Given the description of an element on the screen output the (x, y) to click on. 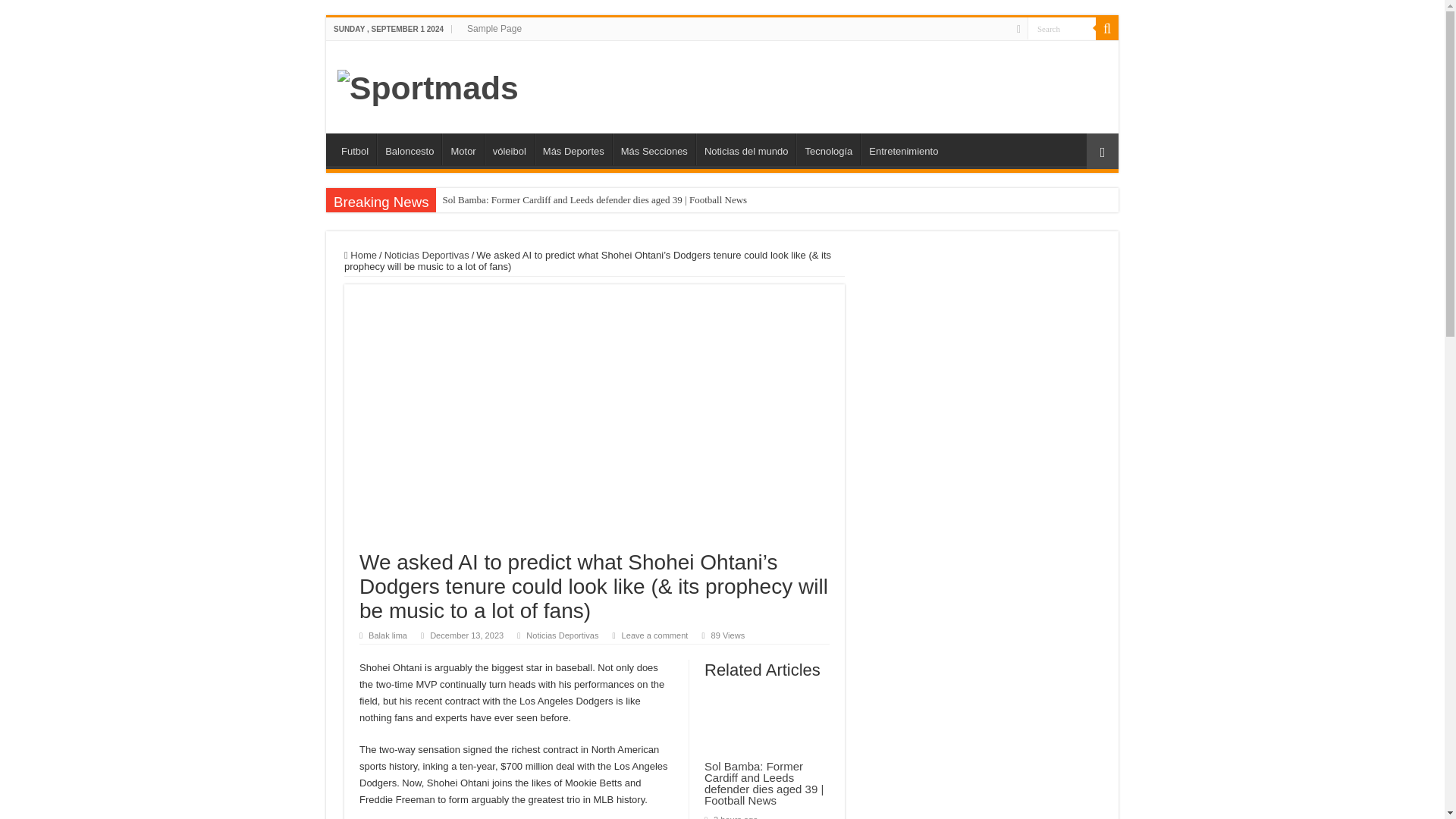
Entretenimiento (902, 149)
Noticias Deportivas (561, 634)
Motor (462, 149)
Sample Page (494, 28)
Baloncesto (409, 149)
Noticias Deportivas (426, 255)
Balak lima (387, 634)
Sportmads (427, 85)
Noticias del mundo (745, 149)
Search (1061, 28)
